Given the description of an element on the screen output the (x, y) to click on. 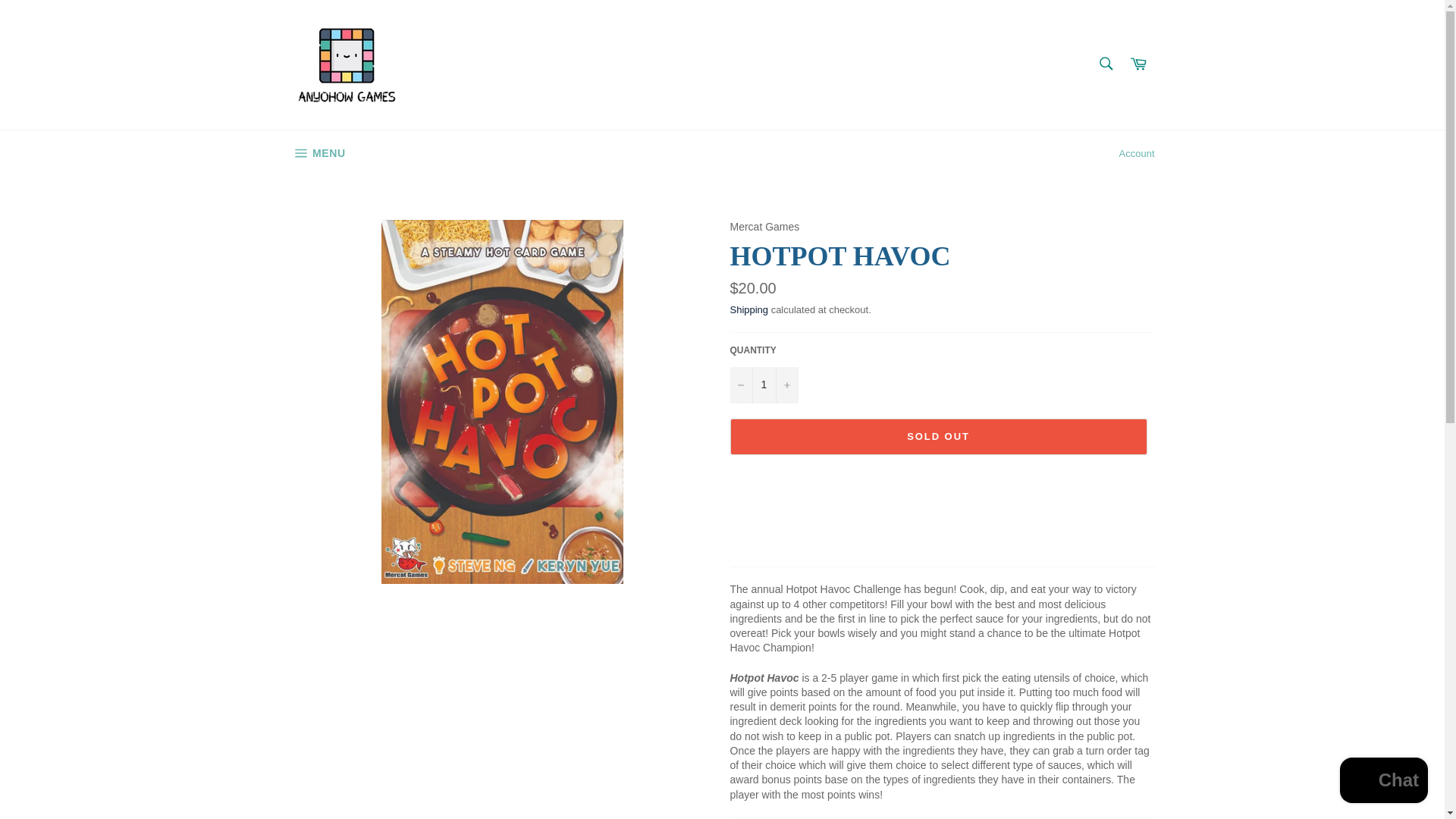
Search (1104, 63)
Shipping (748, 309)
Account (1136, 153)
Shopify online store chat (1383, 781)
1 (763, 384)
Cart (1138, 64)
